Given the description of an element on the screen output the (x, y) to click on. 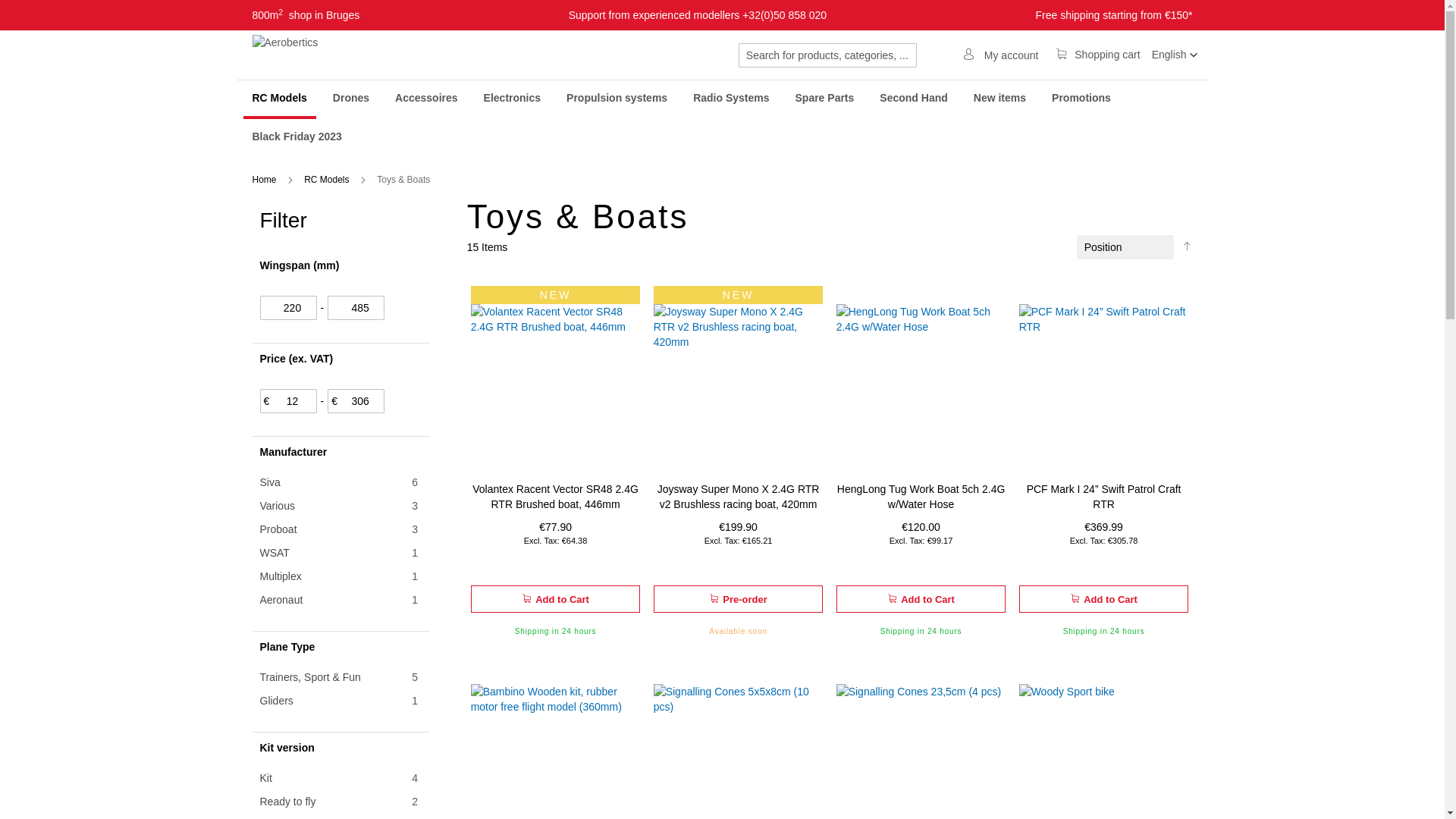
RC Models Element type: text (327, 179)
HengLong Tug Work Boat 5ch 2.4G w/Water Hose Element type: text (921, 496)
Second Hand Element type: text (913, 98)
Add to Cart Element type: text (1104, 598)
My account Element type: text (996, 55)
Gliders
1
item Element type: text (277, 700)
Add to Cart Element type: text (555, 598)
Black Friday 2023 Element type: text (296, 136)
Electronics Element type: text (511, 98)
Proboat
3
items Element type: text (279, 529)
Multiplex
1
item Element type: text (281, 576)
+32(0)50 858 020 Element type: text (784, 15)
800m2  shop in Bruges Element type: text (305, 15)
New items Element type: text (999, 98)
Kit
4
items Element type: text (266, 777)
Radio Systems Element type: text (731, 98)
Set Descending Direction Element type: text (1185, 245)
Spare Parts Element type: text (823, 98)
Various
3
items Element type: text (278, 505)
Accessoires Element type: text (426, 98)
Propulsion systems Element type: text (616, 98)
Home Element type: text (264, 179)
Volantex Racent Vector SR48 2.4G RTR Brushed boat, 446mm Element type: text (555, 496)
Ready to fly
2
items Element type: text (288, 801)
Trainers, Sport & Fun
5
items Element type: text (311, 677)
Drones Element type: text (350, 98)
WSAT
1
item Element type: text (275, 552)
Pre-order Element type: text (738, 598)
Aerobertics Element type: hover (315, 53)
Add to Cart Element type: text (921, 598)
Siva
6
items Element type: text (270, 482)
RC Models Element type: text (278, 99)
Aeronaut
1
item Element type: text (282, 599)
Promotions Element type: text (1081, 98)
Shopping cart Element type: text (1093, 54)
